Given the description of an element on the screen output the (x, y) to click on. 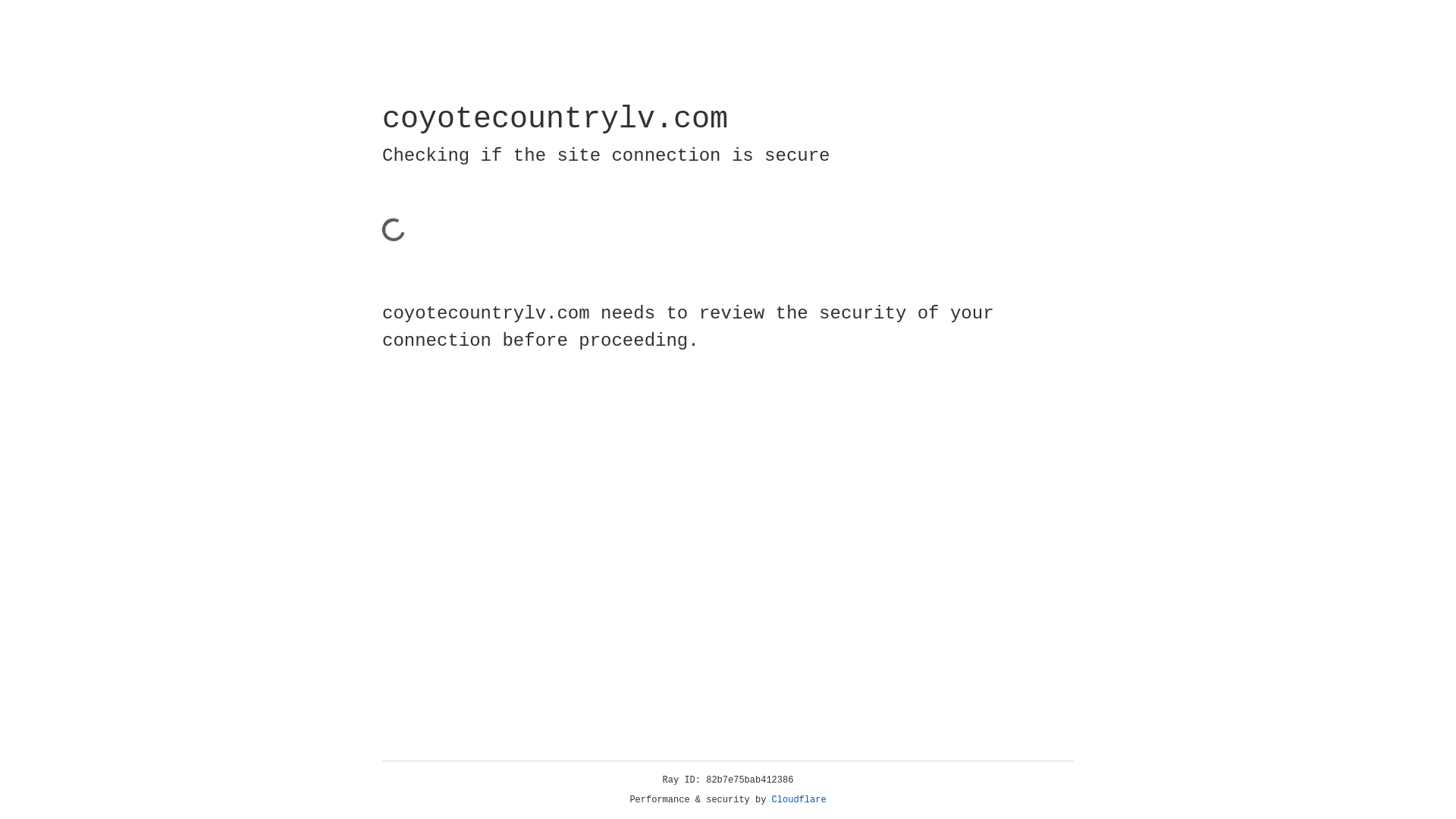
Cloudflare Element type: text (798, 799)
